Given the description of an element on the screen output the (x, y) to click on. 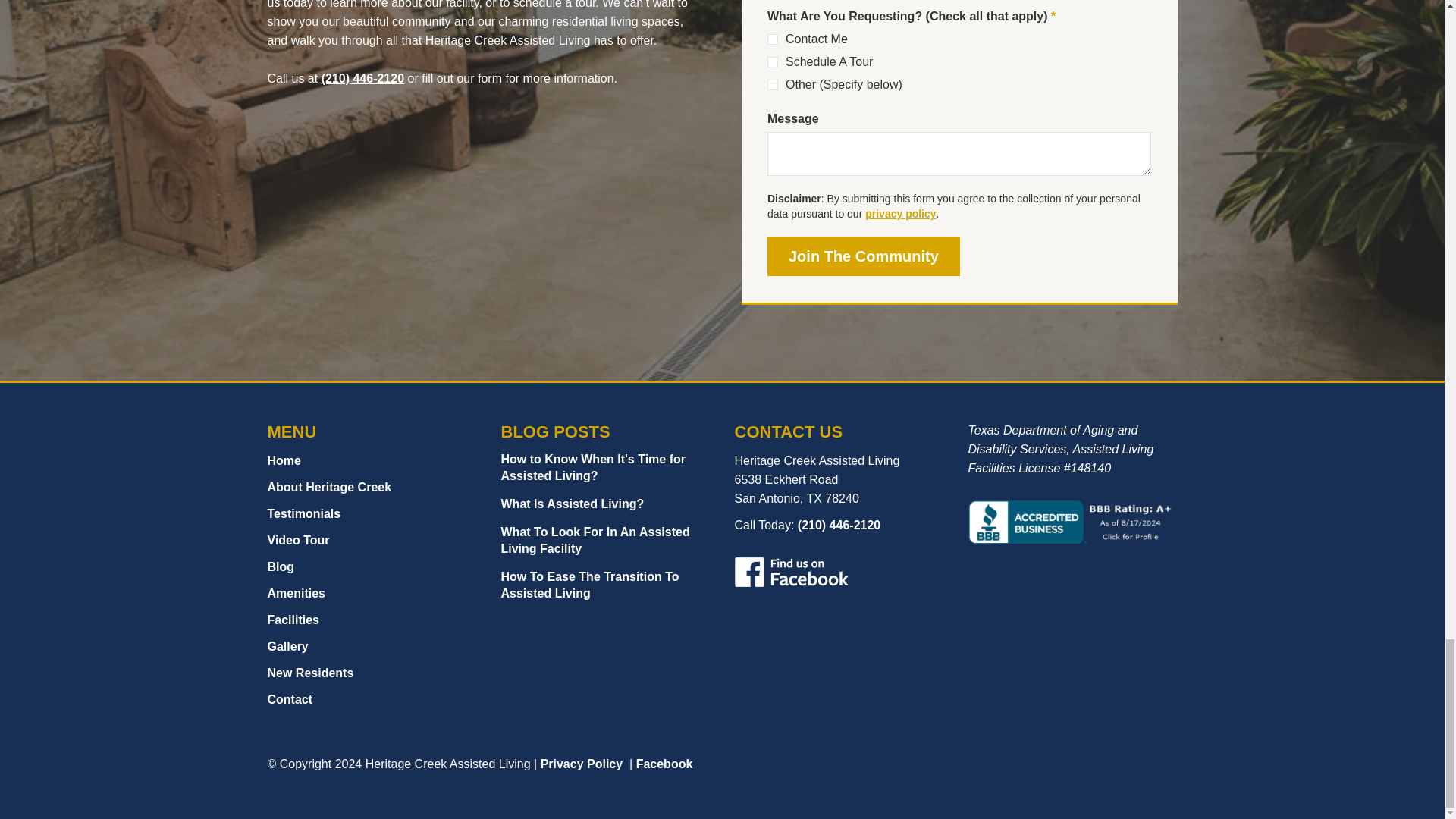
Contact (371, 699)
Join The Community (863, 256)
About Heritage Creek (371, 486)
Video Tour (371, 539)
What Is Assisted Living? (571, 503)
New Residents (371, 672)
Testimonials (371, 513)
Amenities (371, 592)
Join The Community (863, 256)
Facilities (371, 619)
